Given the description of an element on the screen output the (x, y) to click on. 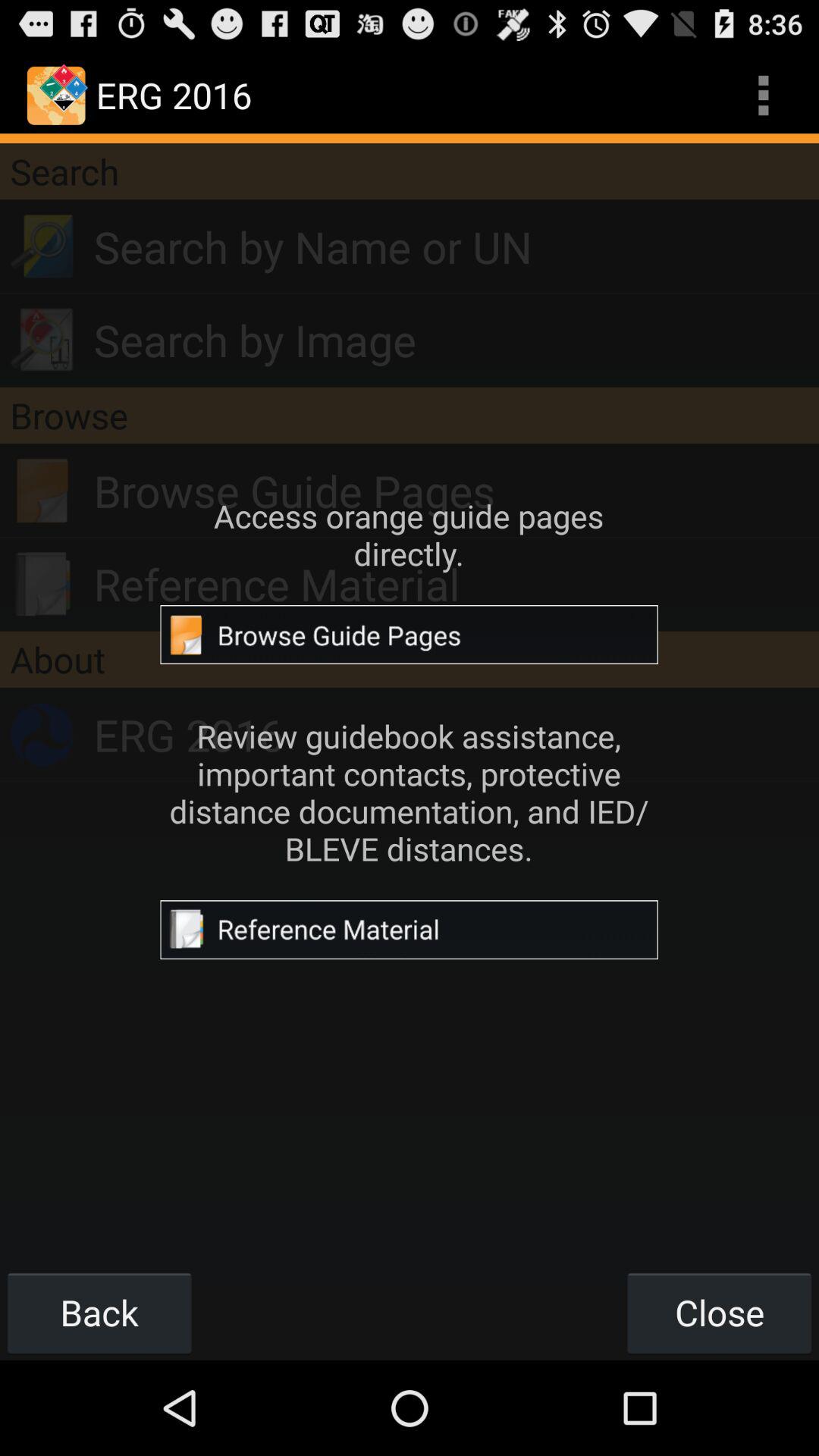
choose the icon next to back item (719, 1312)
